Given the description of an element on the screen output the (x, y) to click on. 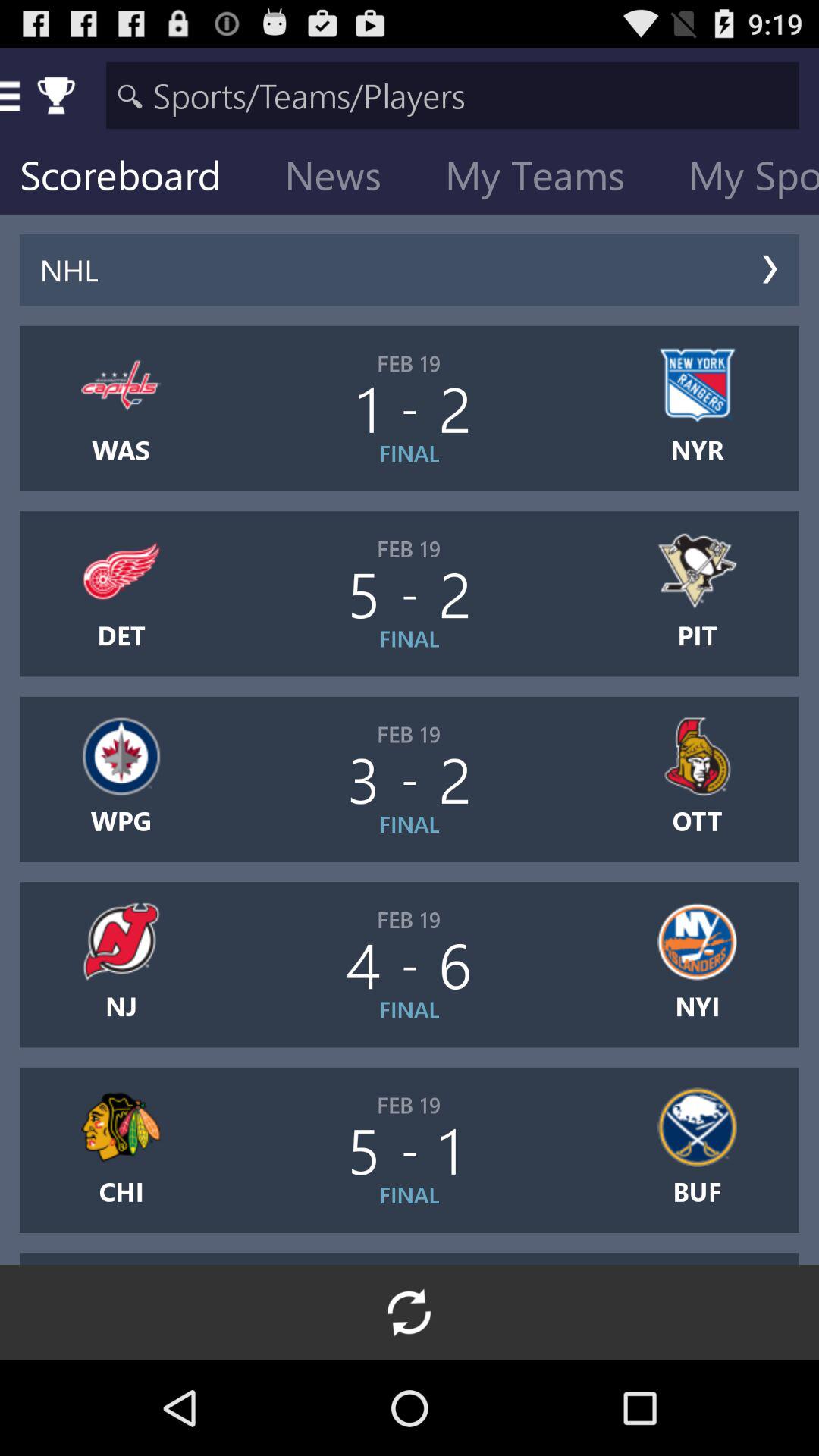
press the item to the left of the news item (132, 178)
